Given the description of an element on the screen output the (x, y) to click on. 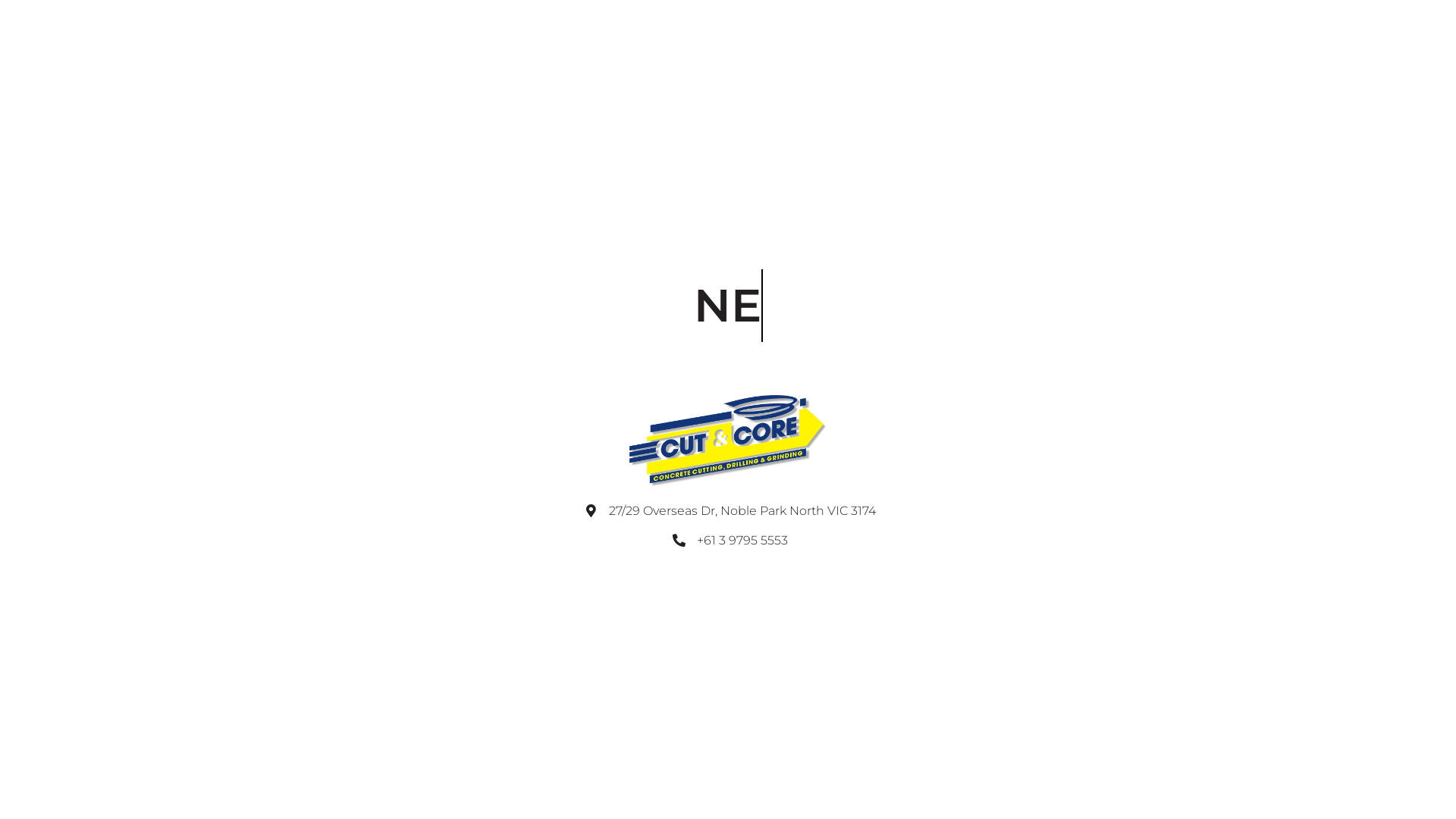
+61 3 9795 5553 Element type: text (728, 540)
